Given the description of an element on the screen output the (x, y) to click on. 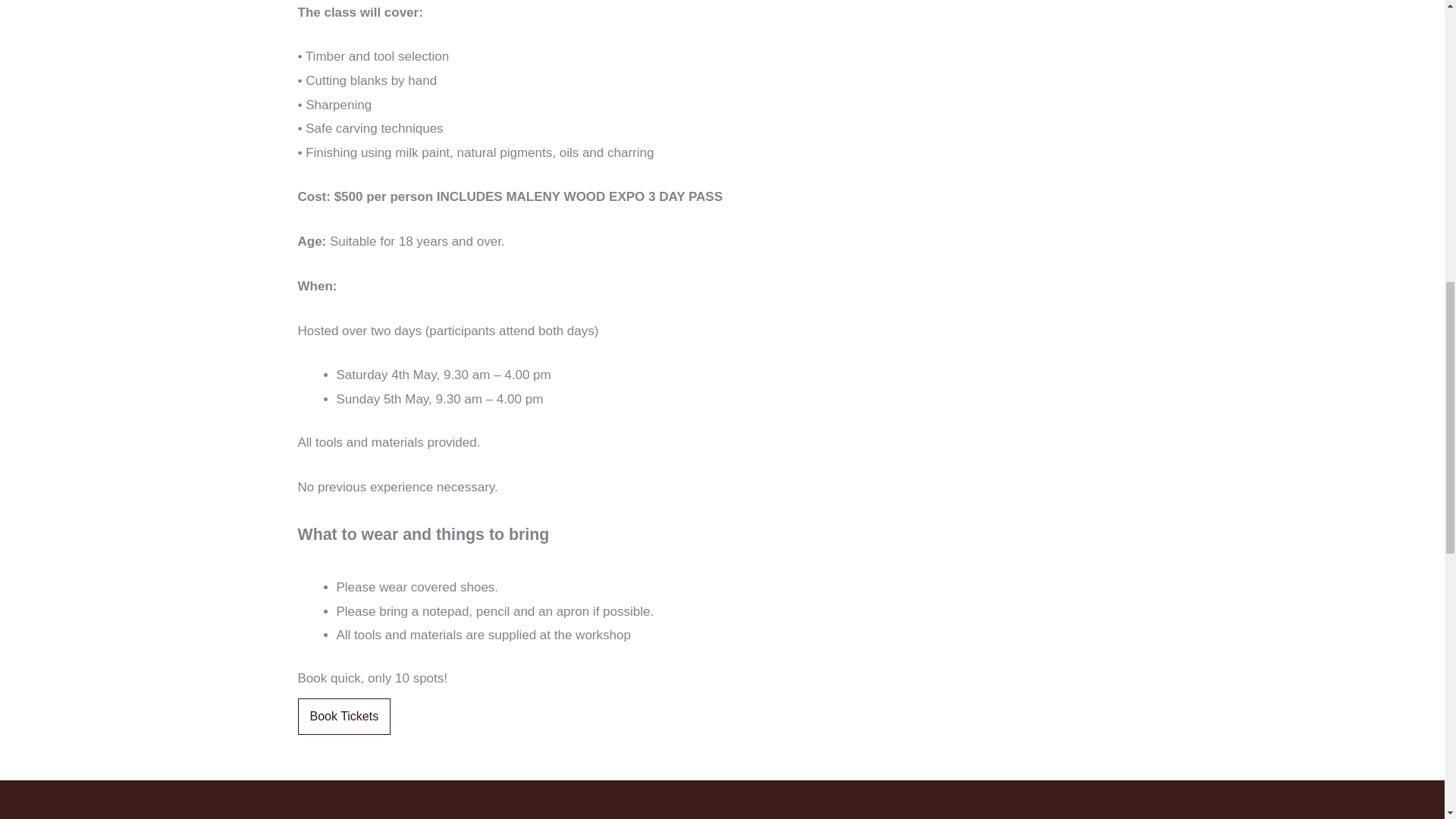
Book Tickets (343, 716)
